Given the description of an element on the screen output the (x, y) to click on. 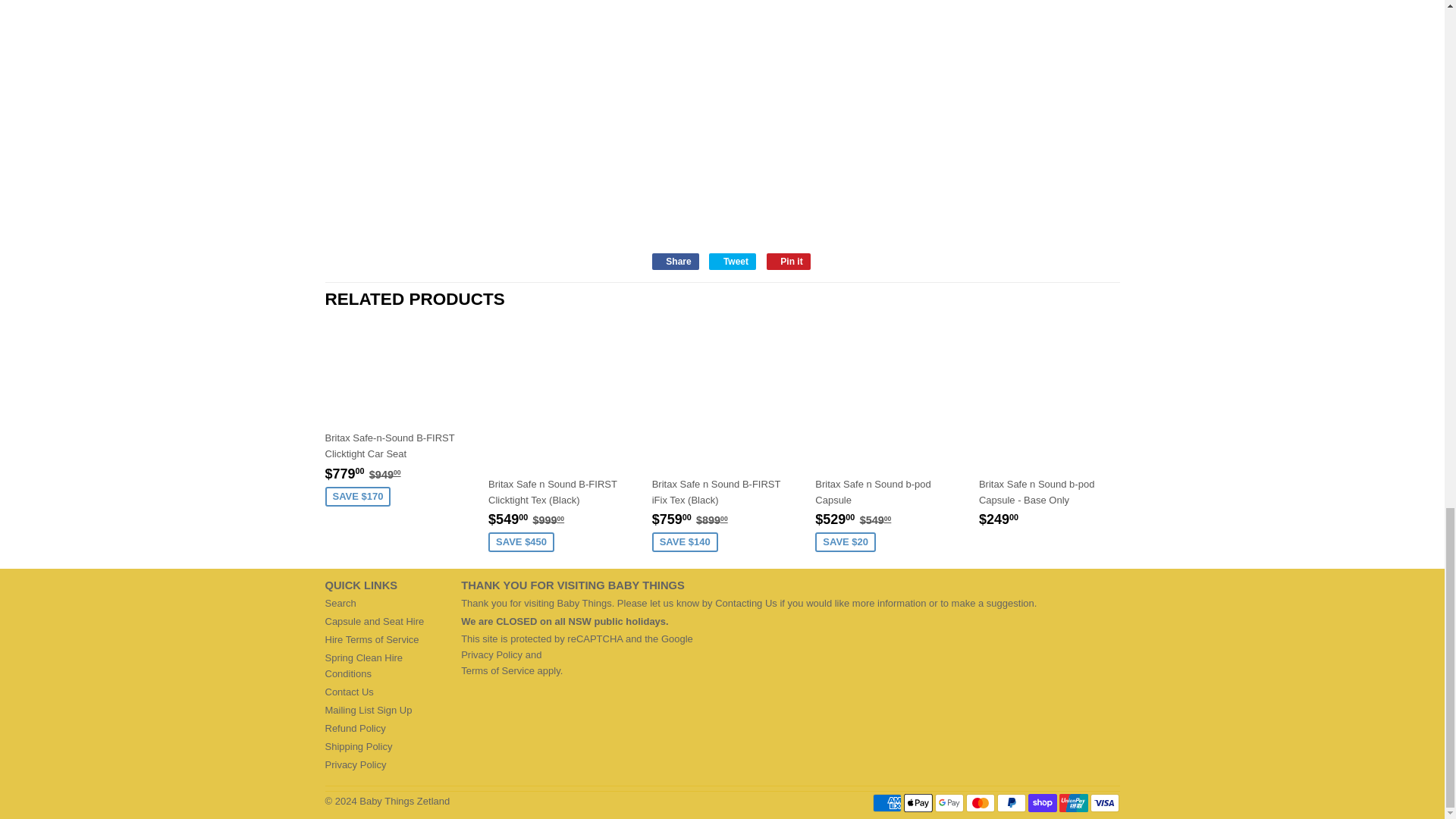
Union Pay (1073, 802)
Share on Facebook (675, 261)
Tweet on Twitter (732, 261)
YouTube video player (864, 123)
Visa (1104, 802)
Apple Pay (918, 802)
Pin on Pinterest (788, 261)
Mastercard (980, 802)
PayPal (1011, 802)
American Express (886, 802)
Google Pay (948, 802)
Shop Pay (1042, 802)
